Given the description of an element on the screen output the (x, y) to click on. 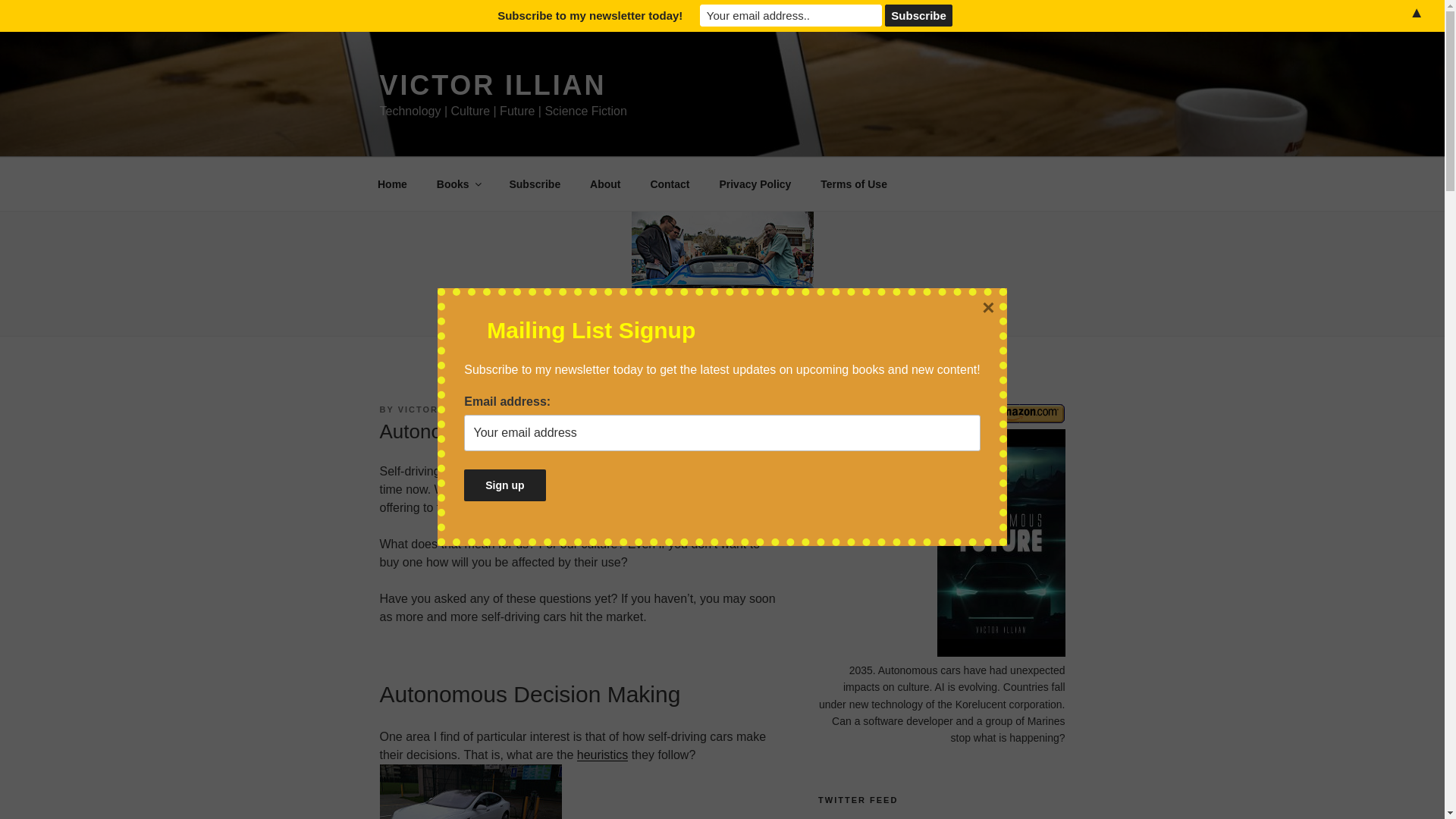
Subscribe (534, 183)
Privacy Policy (755, 183)
heuristics (602, 754)
Contact (670, 183)
VICTOR ILLIAN (491, 84)
Subscribe (919, 15)
VICTORILLIAN (435, 409)
Sign up (504, 485)
About (604, 183)
Terms of Use (854, 183)
Books (458, 183)
Home (392, 183)
